Given the description of an element on the screen output the (x, y) to click on. 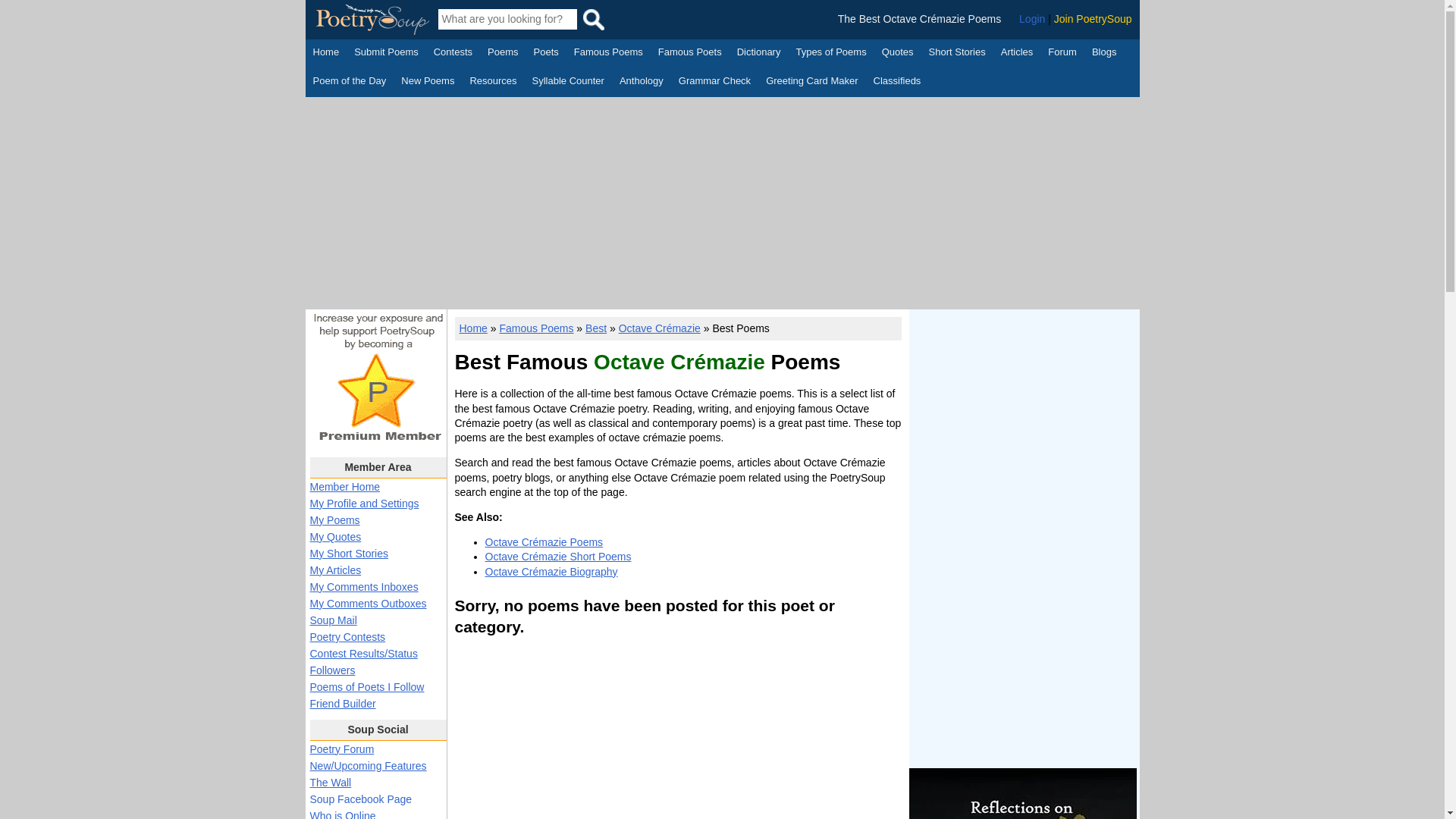
Grammar Check (714, 82)
Famous Poets (690, 53)
Famous Poems (608, 53)
Famous Poets (690, 53)
Dictionary (758, 53)
Syllable Counter (568, 82)
Member Home (344, 486)
Articles (1017, 53)
Famous Poems (608, 53)
My Poems (333, 520)
Poems (502, 53)
Forum (1062, 53)
Dictionary (758, 53)
Poem of the Day (349, 82)
Resources (492, 82)
